Given the description of an element on the screen output the (x, y) to click on. 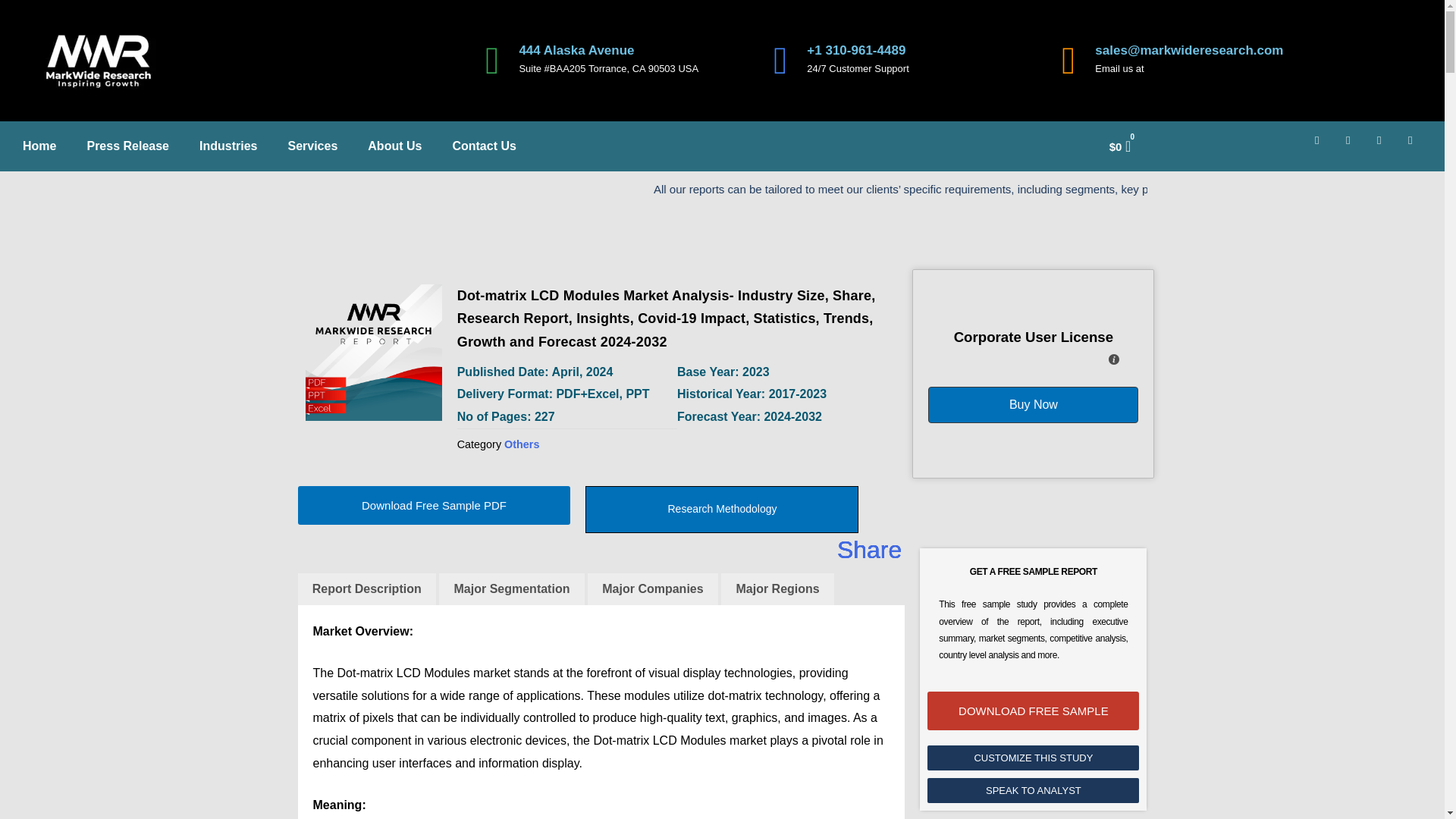
Contact Us (483, 145)
Facebook-f (1322, 146)
Press Release (127, 145)
Research Methodology (722, 509)
Industries (228, 145)
Markwide Research (372, 352)
Linkedin-in (1353, 146)
Services (312, 145)
About Us (394, 145)
Home (39, 145)
